Given the description of an element on the screen output the (x, y) to click on. 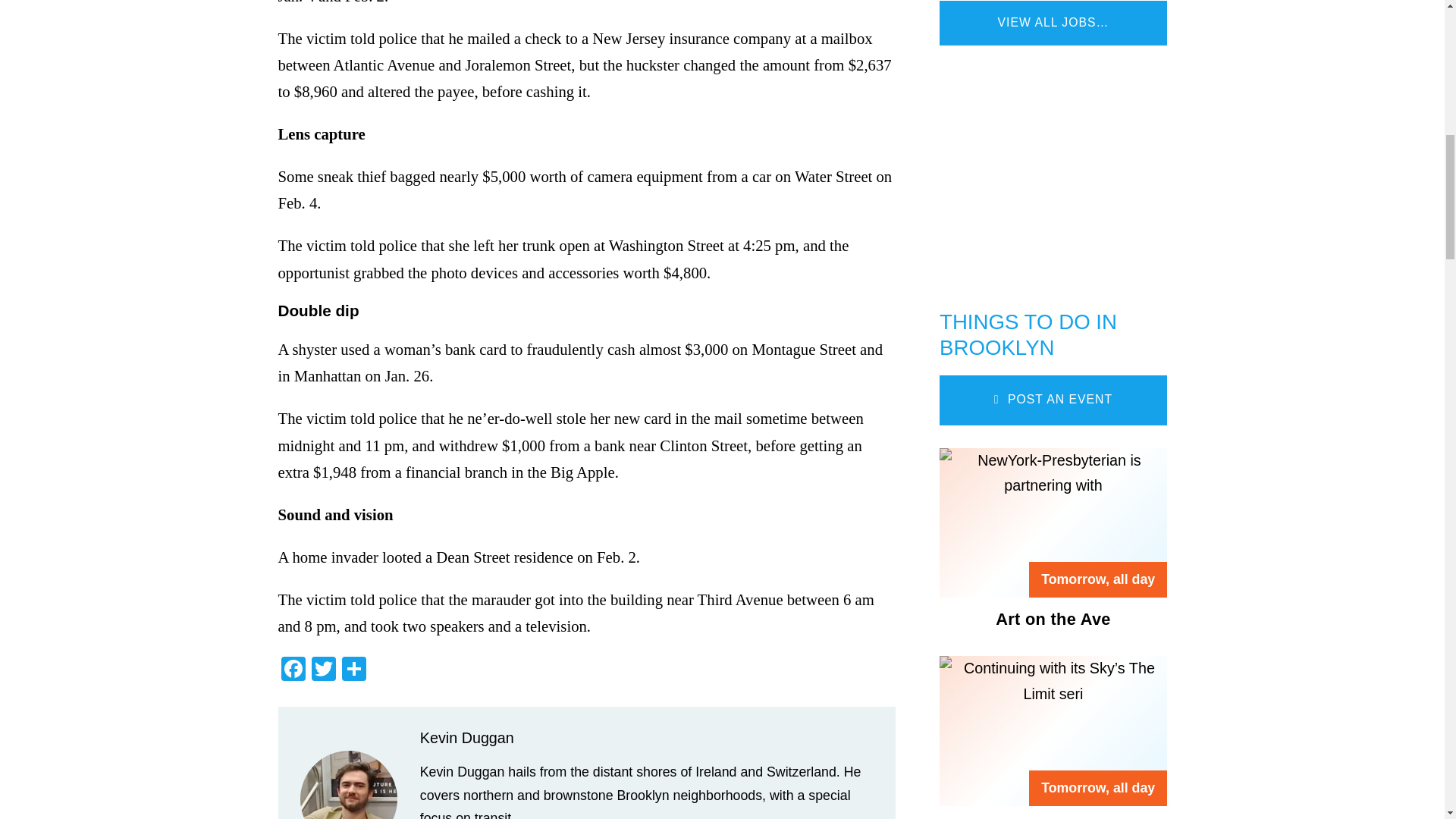
Twitter (322, 670)
Facebook (292, 670)
